Given the description of an element on the screen output the (x, y) to click on. 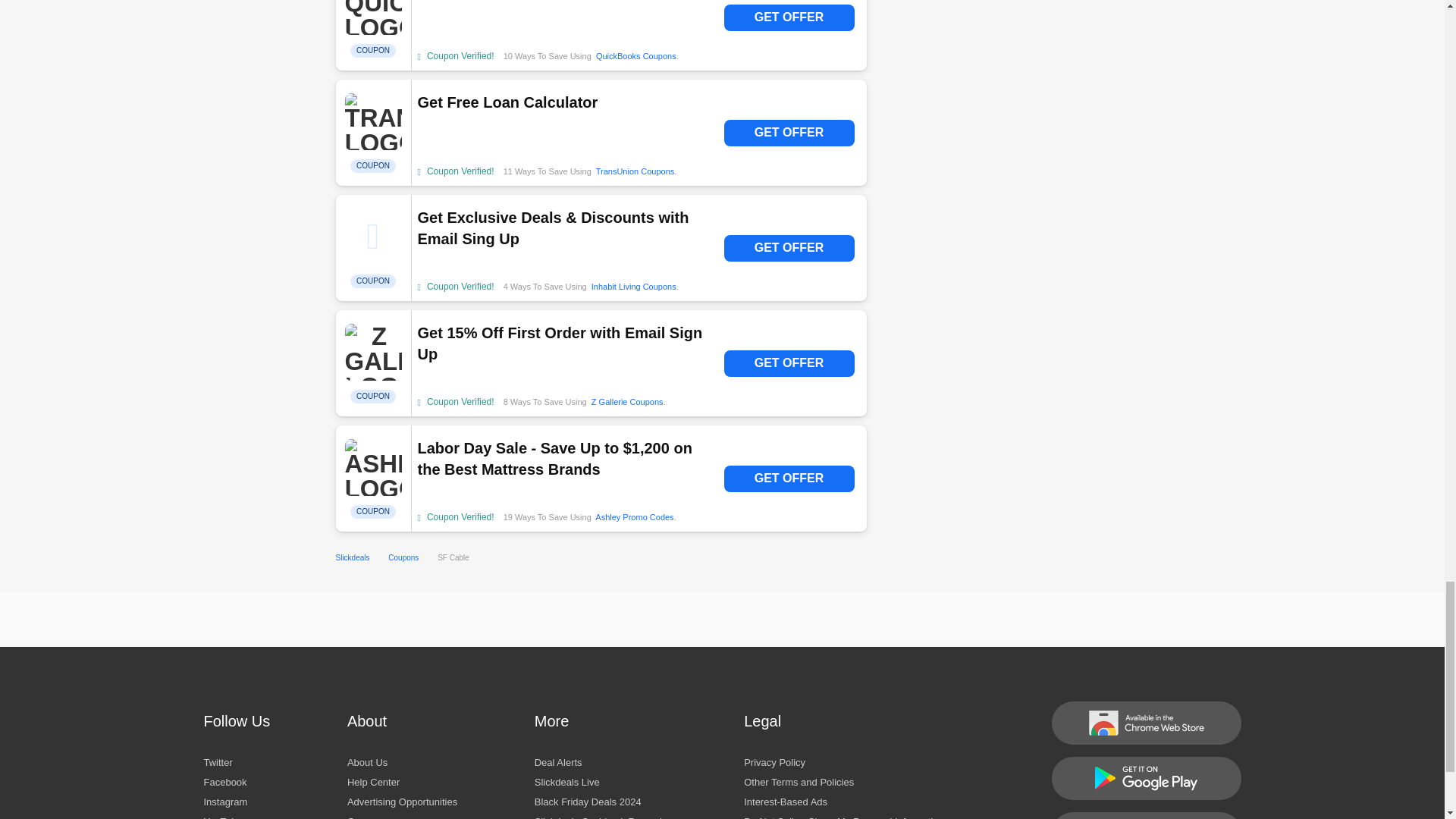
Install the Slickdeals iOS App (1145, 815)
Install the Slickdeals Android App (1145, 778)
Install the Slickdeals Extension (1145, 722)
